Given the description of an element on the screen output the (x, y) to click on. 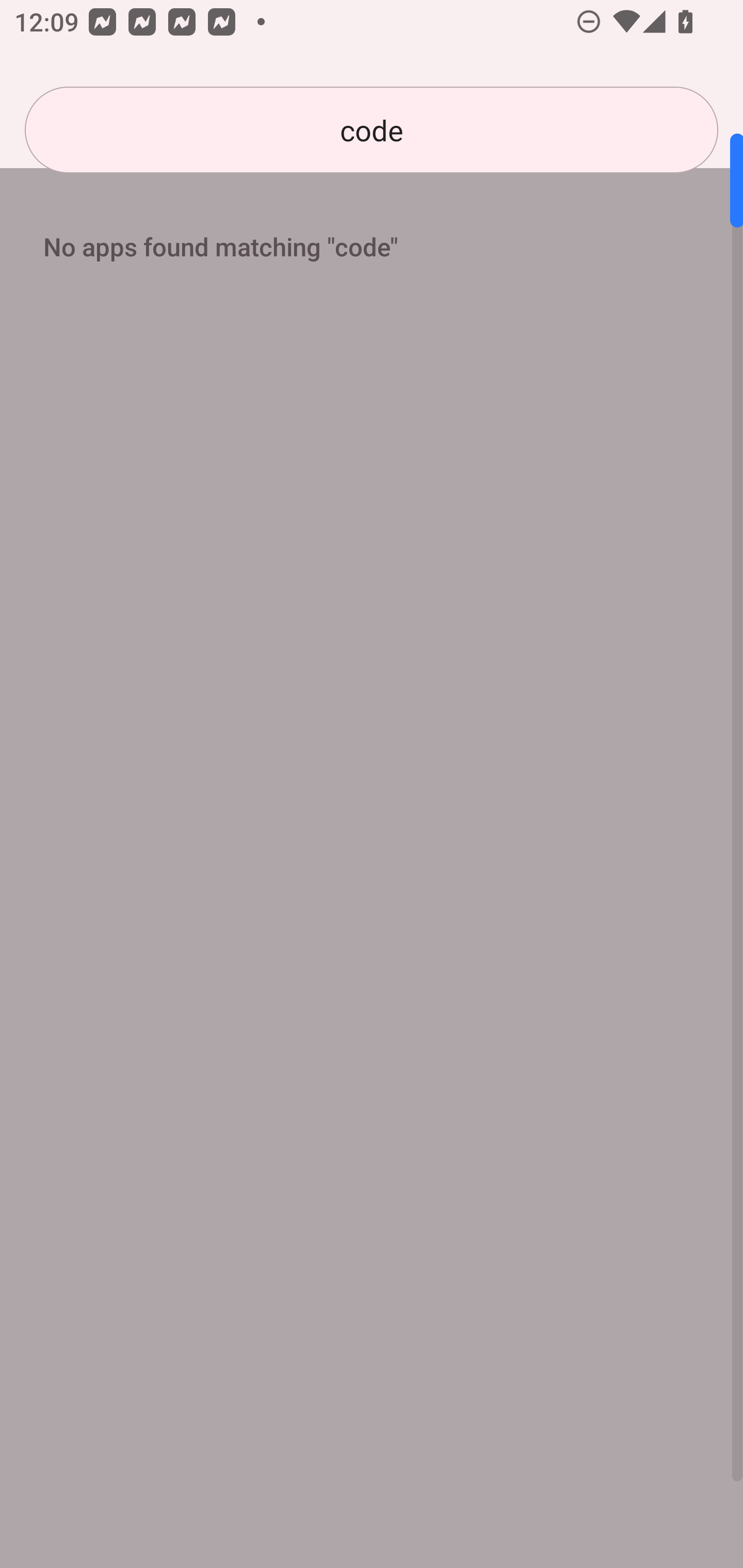
code (371, 130)
